Given the description of an element on the screen output the (x, y) to click on. 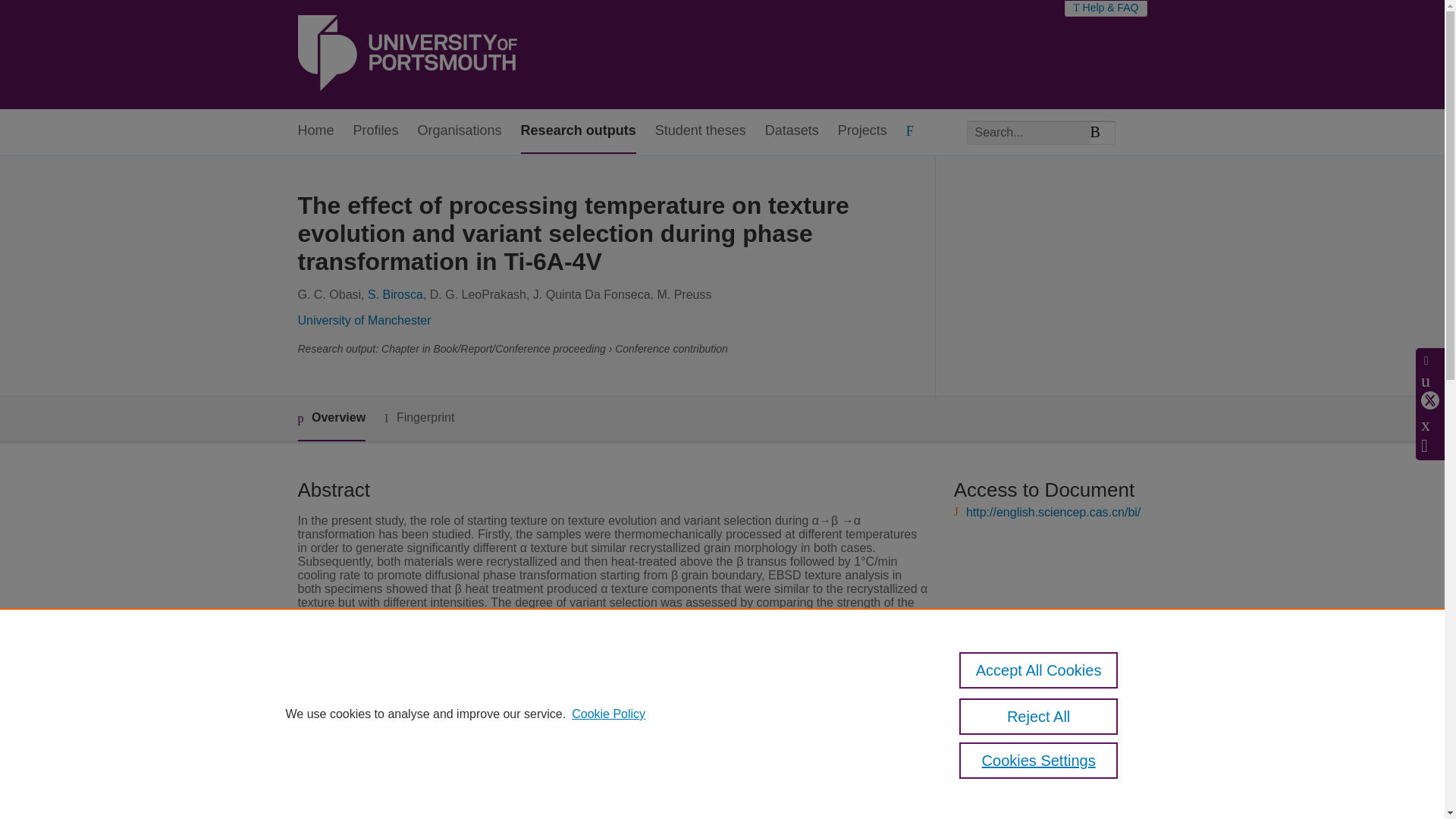
Organisations (459, 130)
S. Birosca (395, 294)
University of Manchester (363, 319)
Student theses (700, 130)
University of Portsmouth Home (406, 54)
Overview (331, 418)
Profiles (375, 130)
12th World Conference on Titanium (603, 796)
Datasets (791, 130)
